Given the description of an element on the screen output the (x, y) to click on. 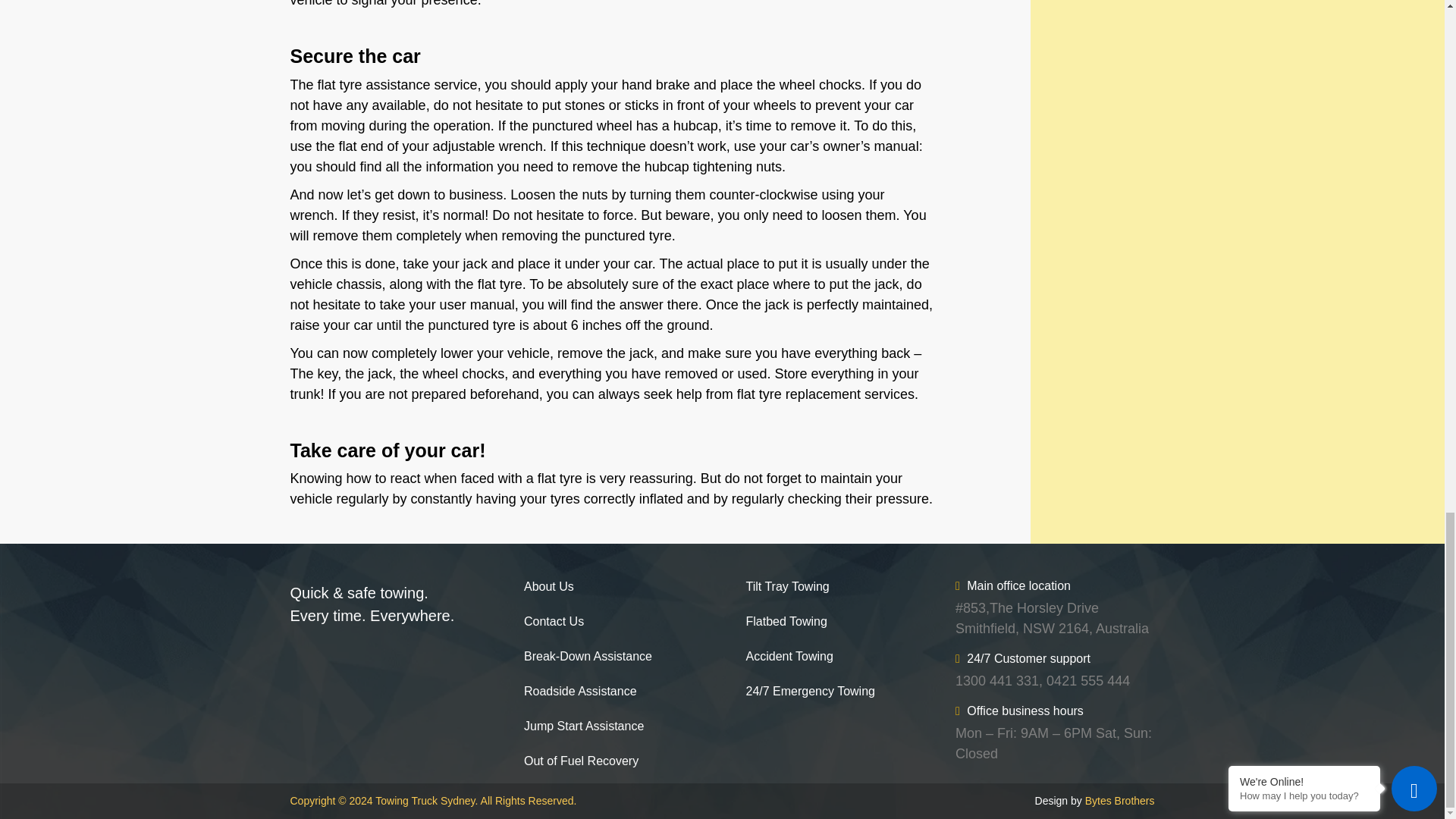
Break-Down Assistance (582, 656)
Jump Start Assistance (577, 726)
About Us (542, 586)
Contact Us (547, 621)
Roadside Assistance (574, 691)
